Given the description of an element on the screen output the (x, y) to click on. 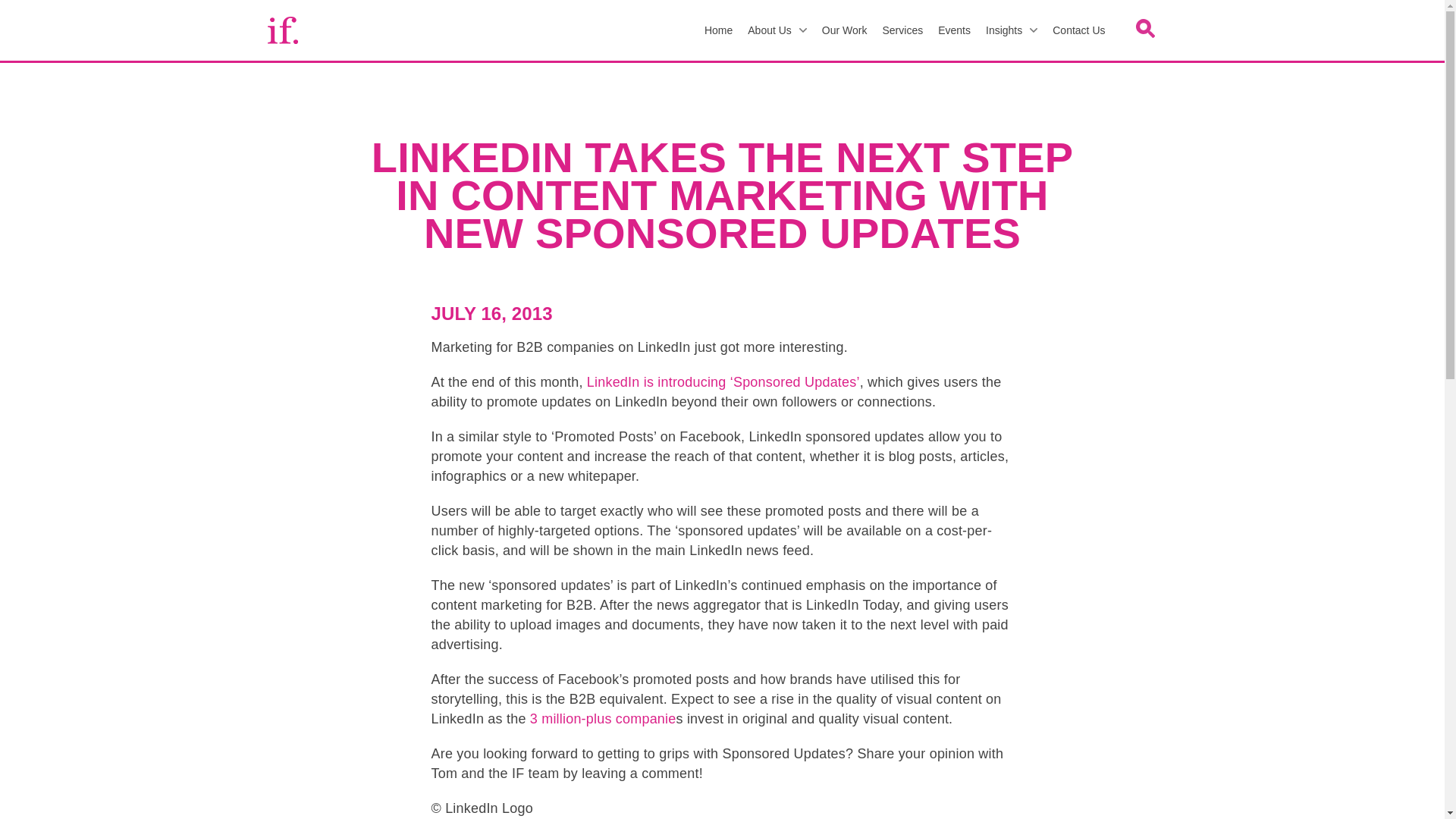
Contact Us (1078, 30)
Insights (1011, 30)
Services (903, 30)
About Us (776, 30)
Our Work (844, 30)
3 million-plus companie (603, 718)
